Given the description of an element on the screen output the (x, y) to click on. 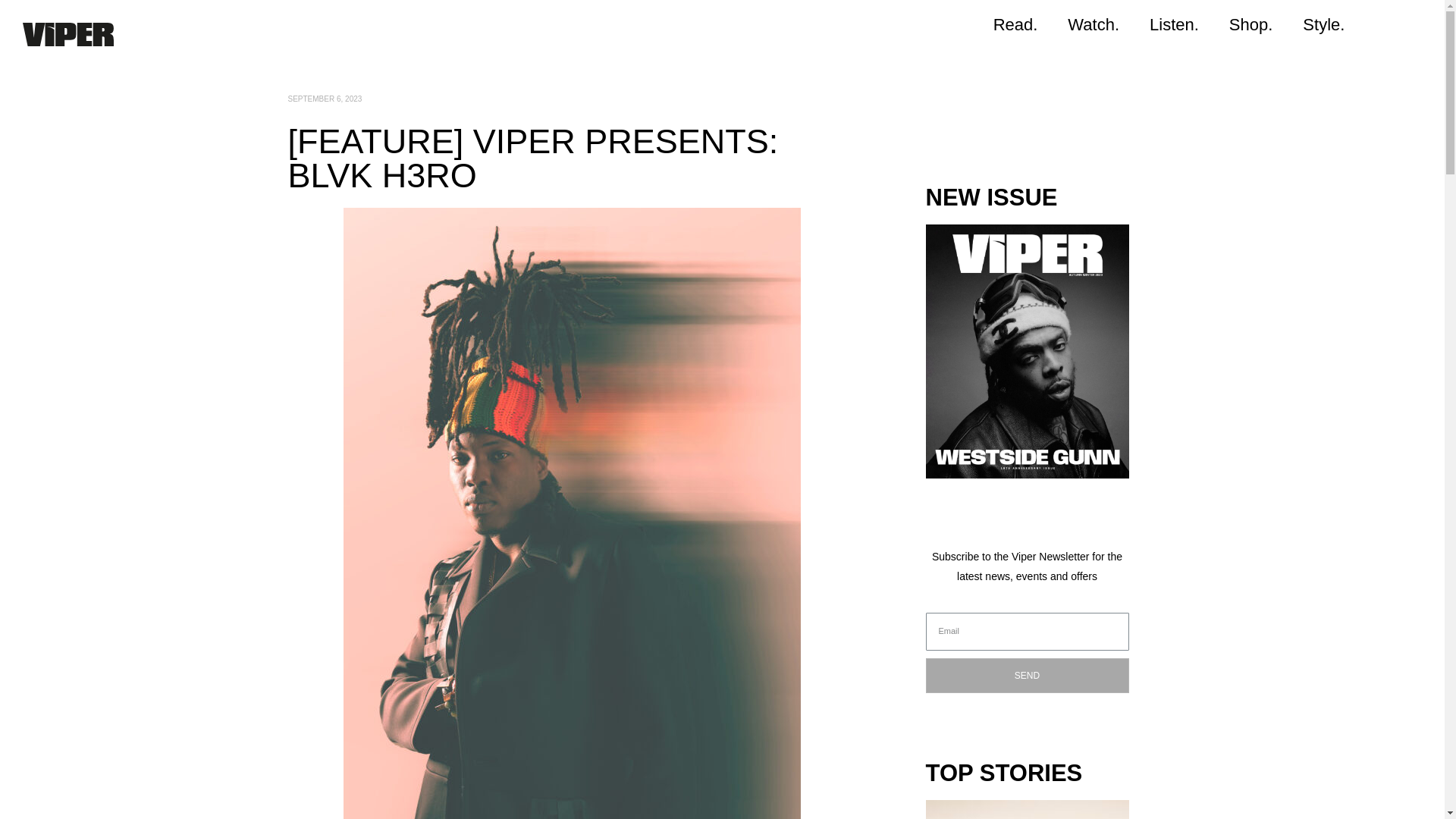
Shop. (1251, 24)
Read. (1015, 24)
Watch. (1093, 24)
Style. (1323, 24)
Listen. (1174, 24)
SEND (1026, 675)
